Given the description of an element on the screen output the (x, y) to click on. 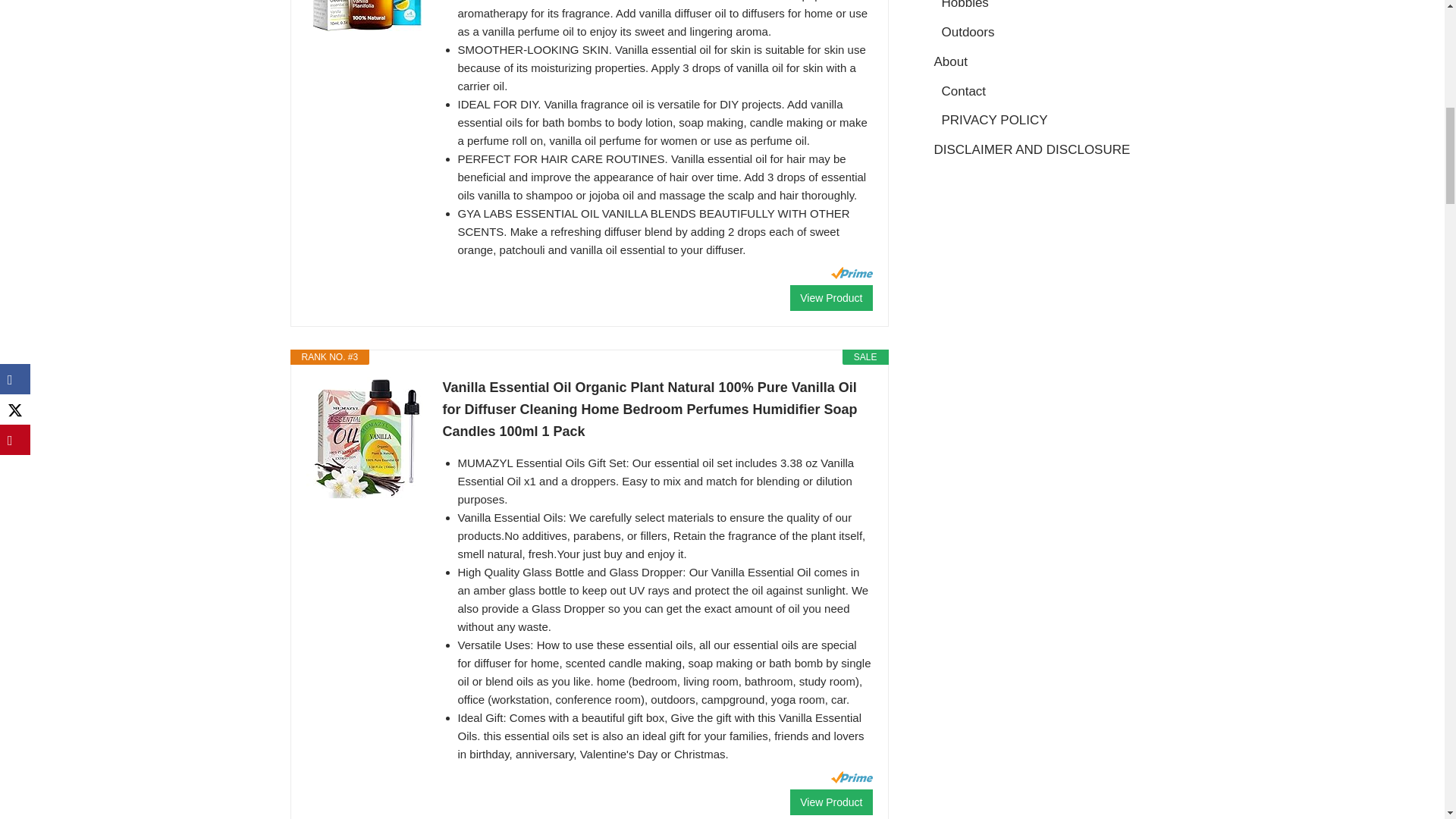
View Product (831, 298)
Amazon Prime (851, 272)
Amazon Prime (851, 776)
View Product (831, 801)
